Given the description of an element on the screen output the (x, y) to click on. 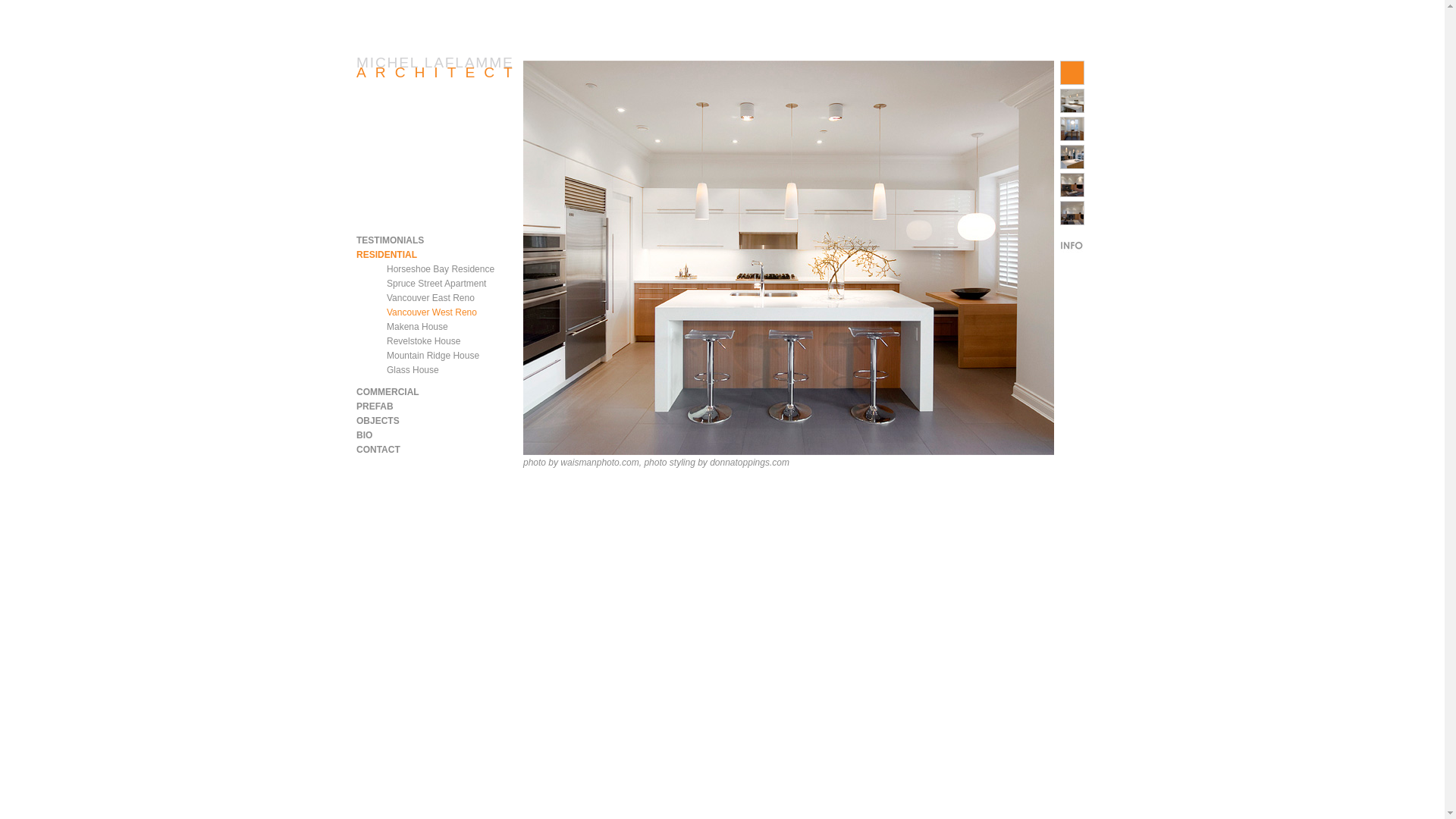
MICHEL LAFLAMME (434, 62)
Spruce Street Apartment (436, 283)
Vancouver East Reno (430, 297)
Revelstoke House (423, 340)
Makena House (417, 326)
Horseshoe Bay Residence (441, 268)
COMMERCIAL (387, 391)
Glass House (413, 369)
ARCHITECT (438, 72)
Mountain Ridge House (433, 355)
TESTIMONIALS (389, 240)
